Given the description of an element on the screen output the (x, y) to click on. 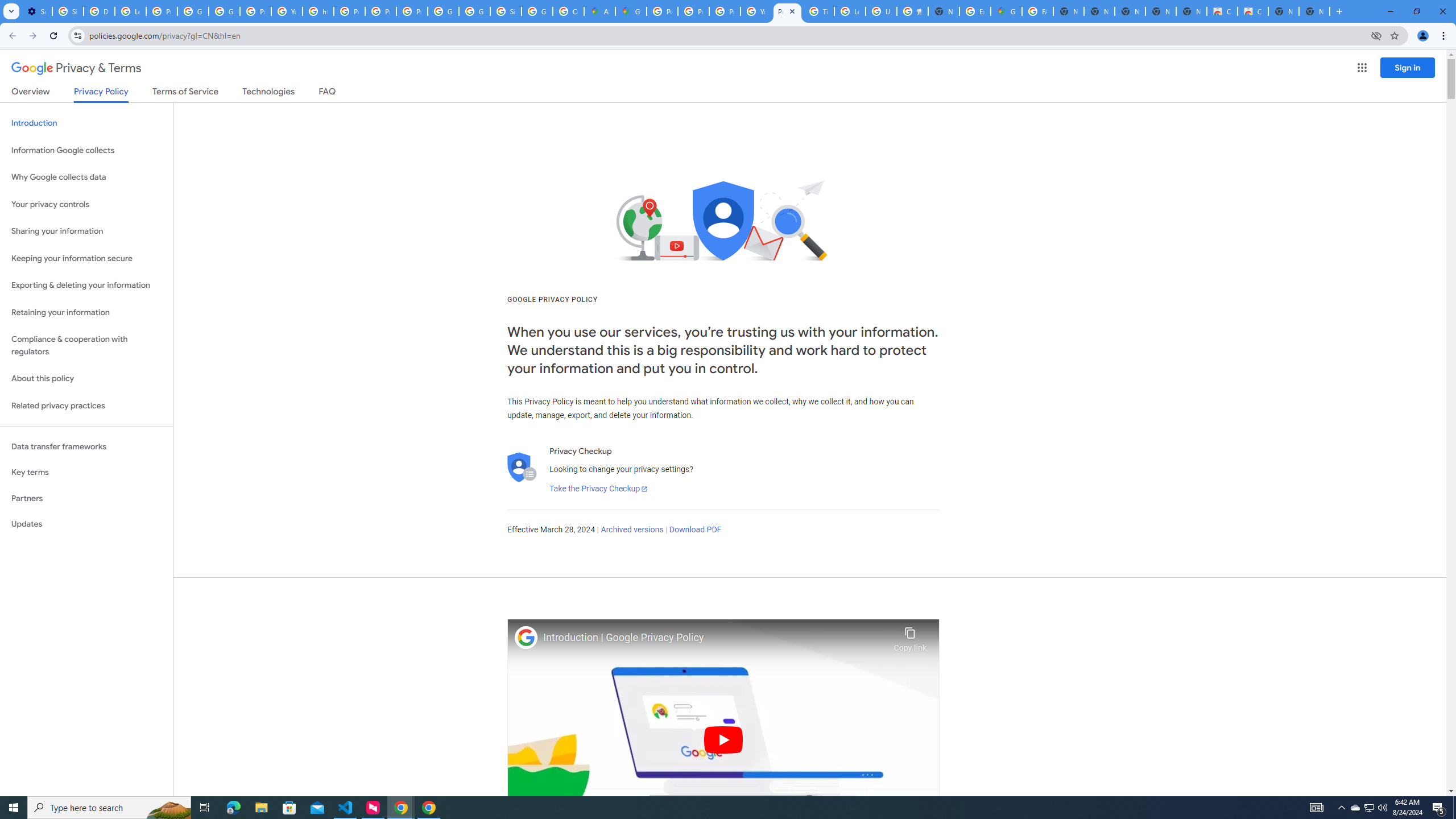
Delete photos & videos - Computer - Google Photos Help (98, 11)
Settings - On startup (36, 11)
Create your Google Account (568, 11)
